Given the description of an element on the screen output the (x, y) to click on. 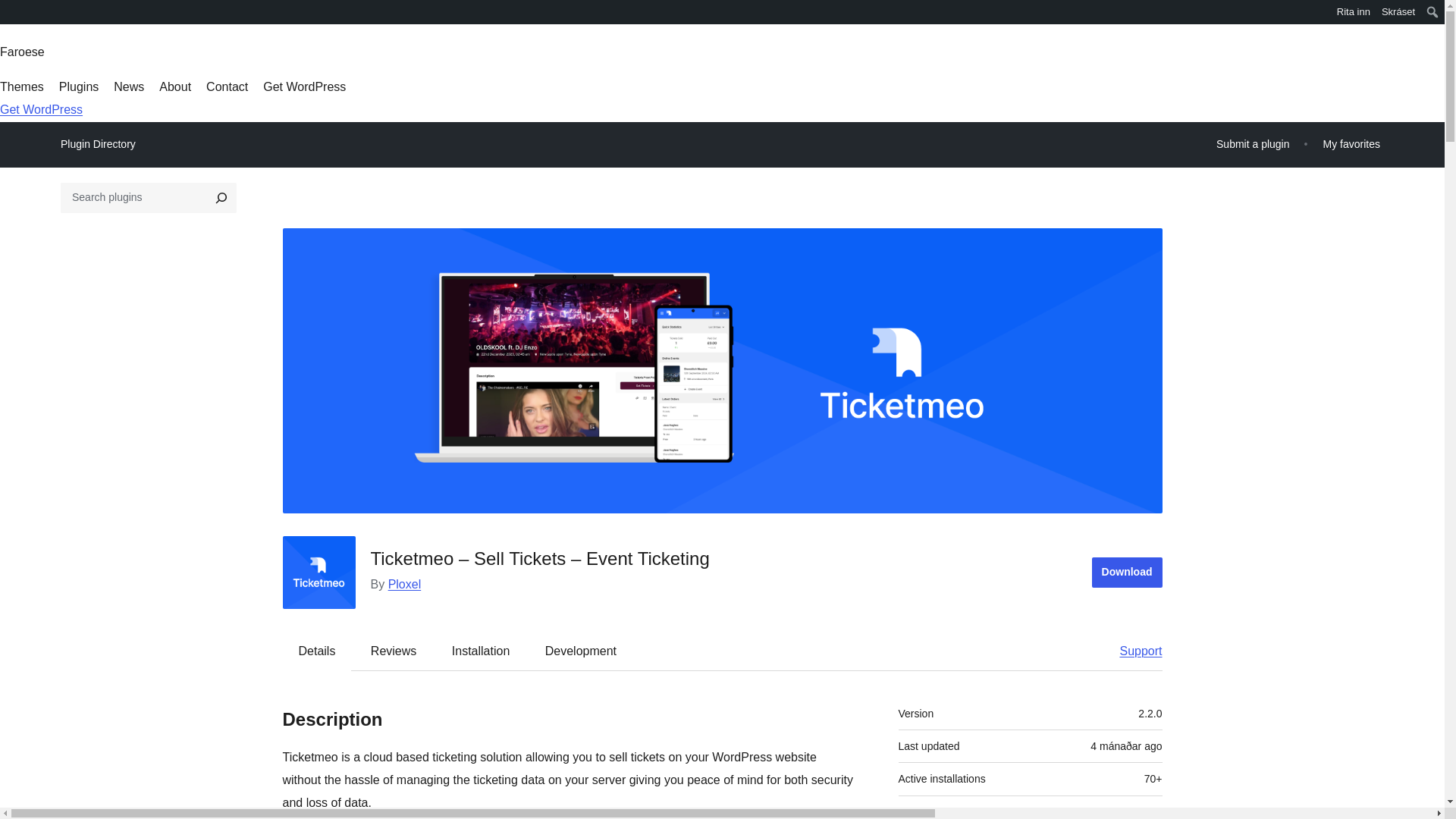
Plugins (79, 87)
My favorites (1351, 144)
WordPress.org (10, 16)
News (128, 87)
Development (580, 651)
WordPress.org (10, 10)
Installation (480, 651)
Submit a plugin (1253, 144)
Reviews (392, 651)
Details (316, 651)
Download (1126, 572)
Leita (12, 13)
Contact (226, 87)
Ploxel (405, 584)
Support (1132, 651)
